Given the description of an element on the screen output the (x, y) to click on. 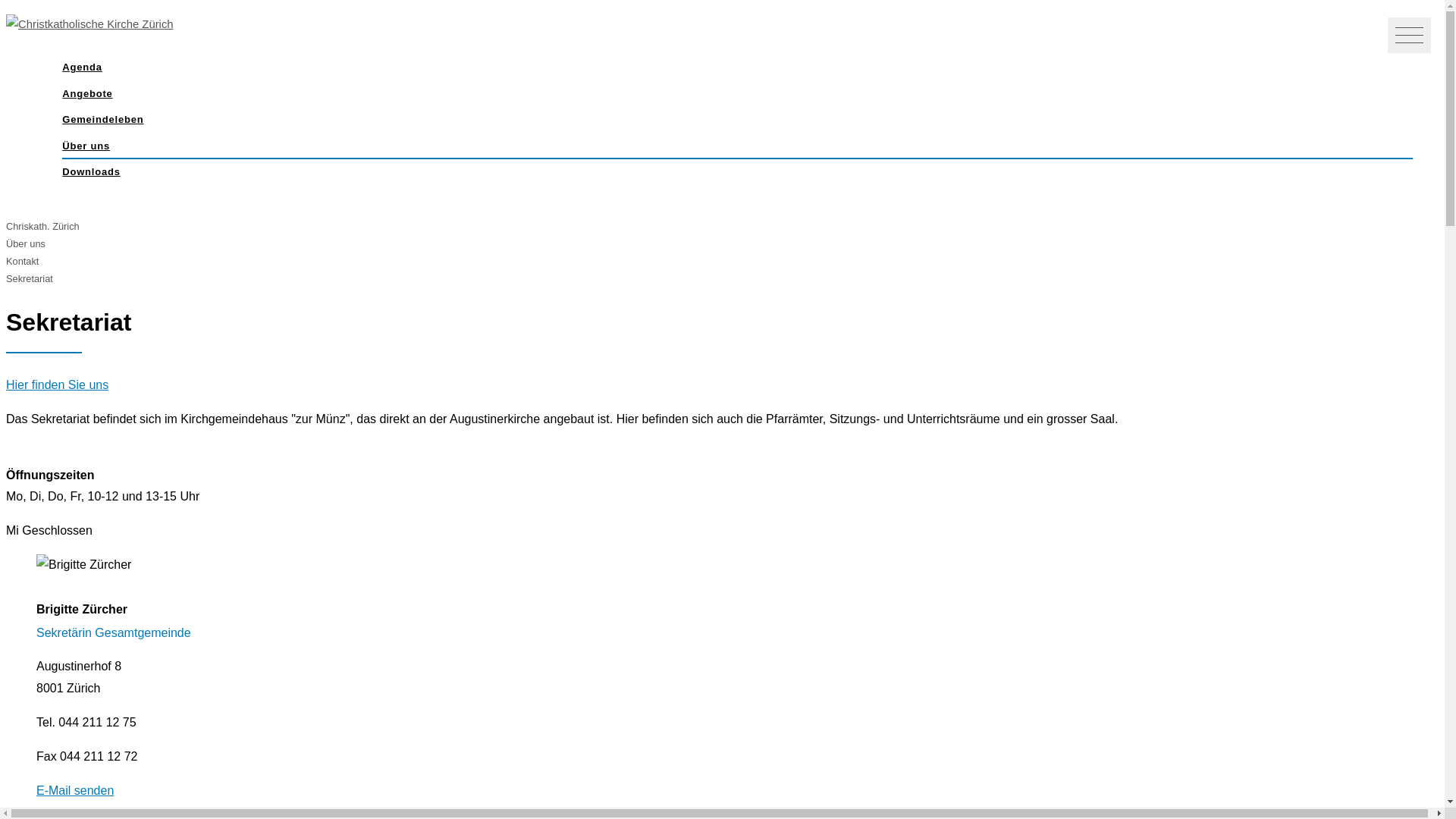
Downloads Element type: text (737, 172)
E-Mail senden Element type: text (74, 790)
Gemeindeleben Element type: text (737, 119)
Hier finden Sie uns Element type: text (57, 384)
Sekretariat Element type: text (29, 278)
Angebote Element type: text (737, 94)
Kontakt Element type: text (22, 260)
Agenda Element type: text (737, 67)
